Given the description of an element on the screen output the (x, y) to click on. 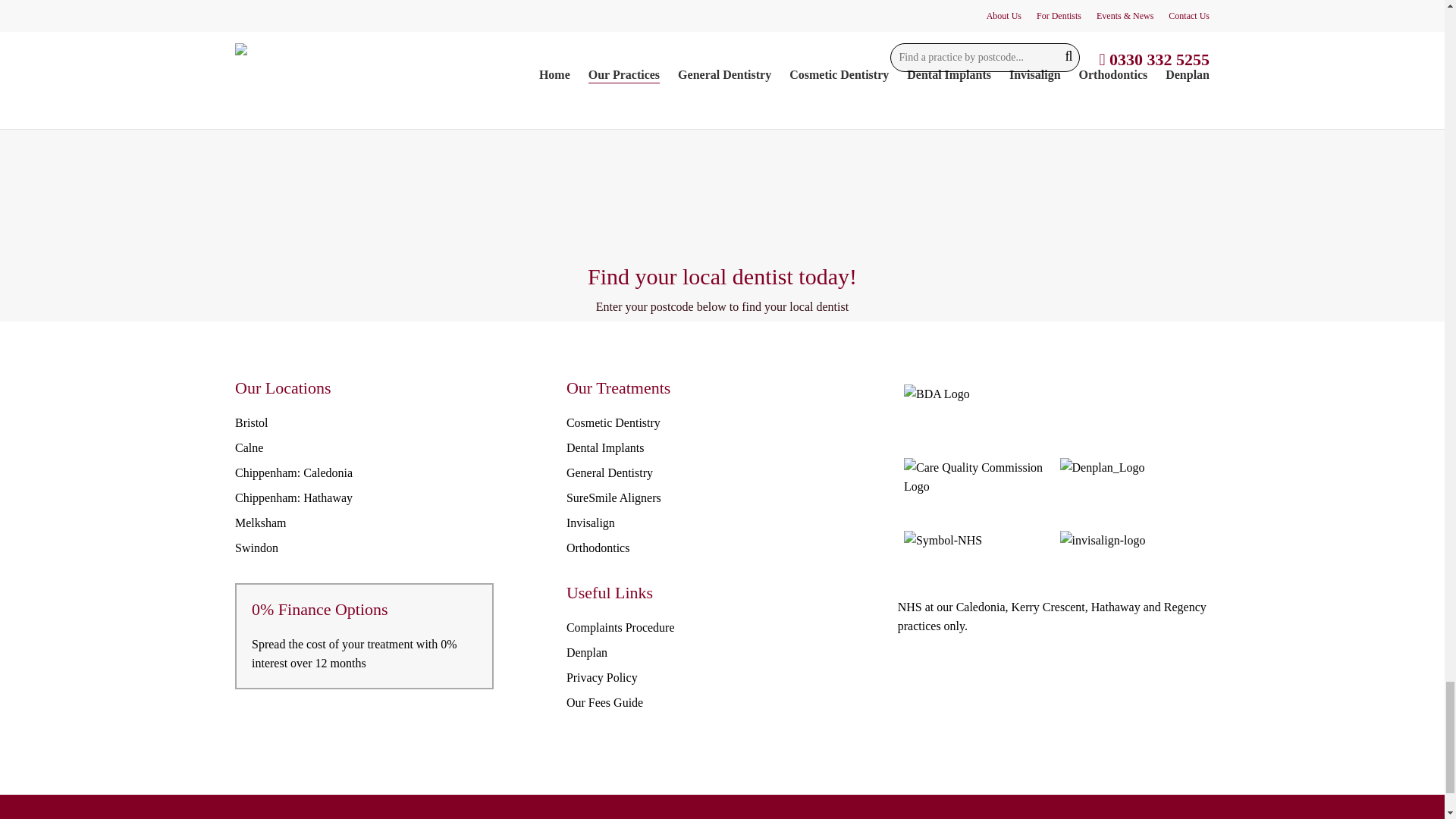
Calne (248, 447)
Bristol (250, 422)
